Given the description of an element on the screen output the (x, y) to click on. 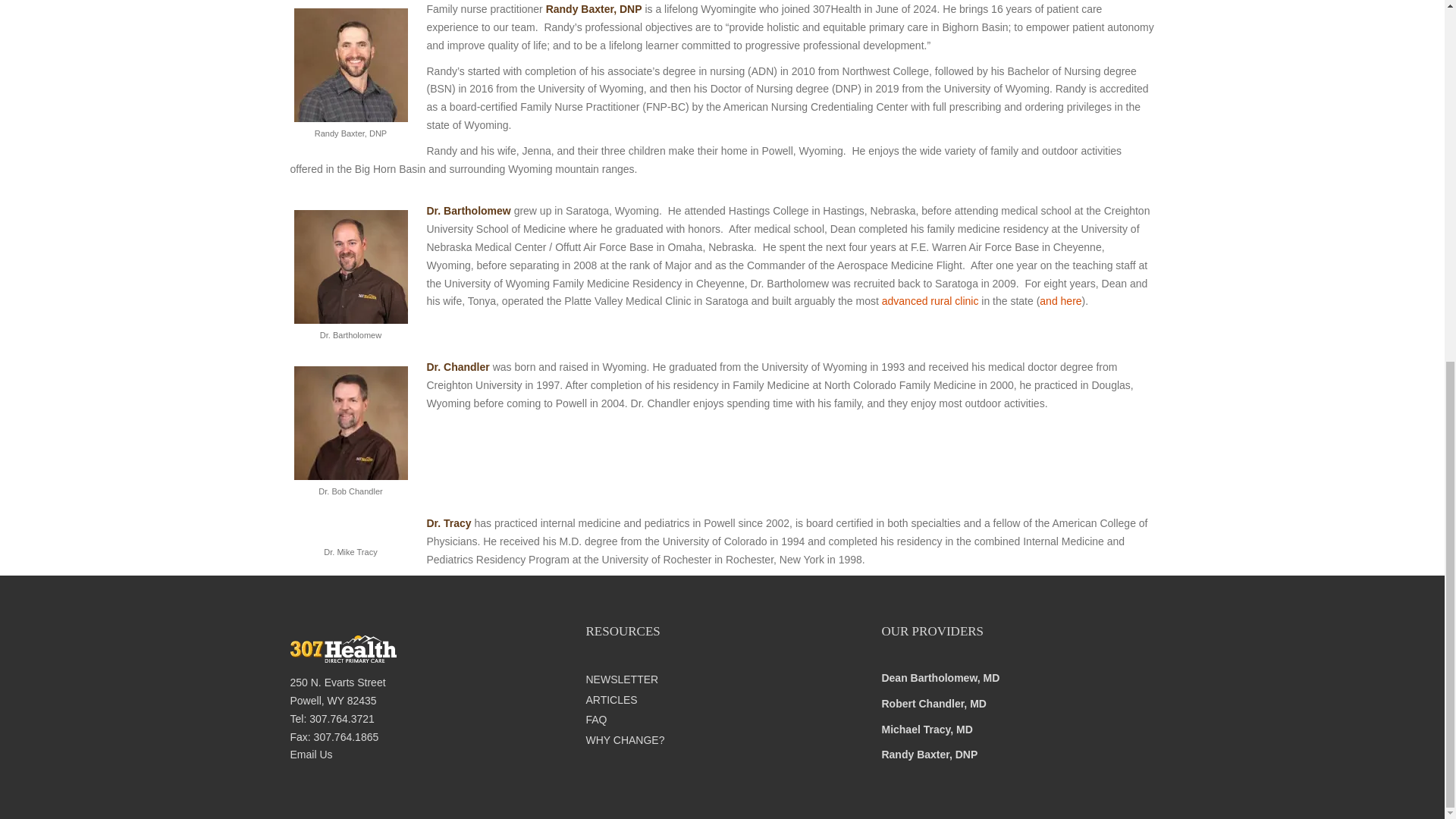
NEWSLETTER (722, 679)
ARTICLES (722, 700)
Michael Tracy, MD (926, 729)
Dean Bartholomew, MD (939, 677)
advanced rural clinic (930, 300)
Email Us (310, 754)
FAQ (722, 720)
Randy Baxter, DNP (928, 754)
WHY CHANGE? (722, 740)
and here (1060, 300)
